Given the description of an element on the screen output the (x, y) to click on. 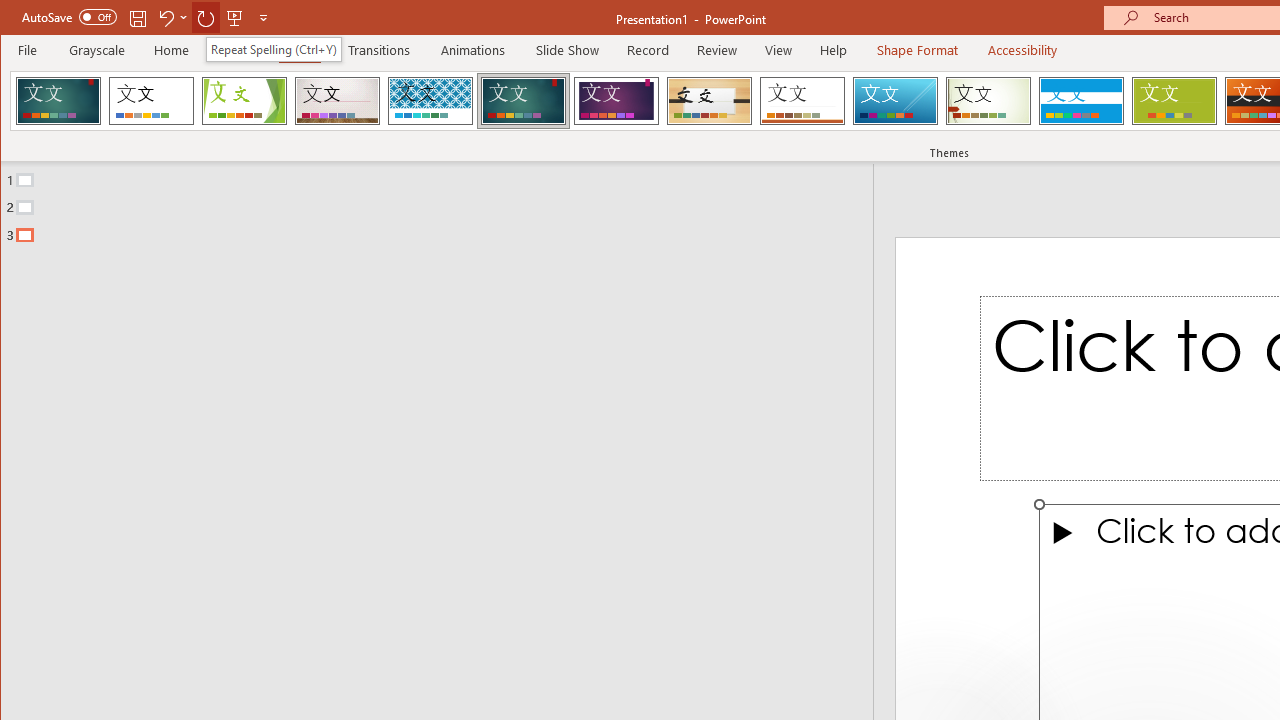
Wisp (988, 100)
Ion Boardroom (616, 100)
Facet (244, 100)
Banded (1081, 100)
Slice (895, 100)
Organic (709, 100)
Gallery (337, 100)
